Given the description of an element on the screen output the (x, y) to click on. 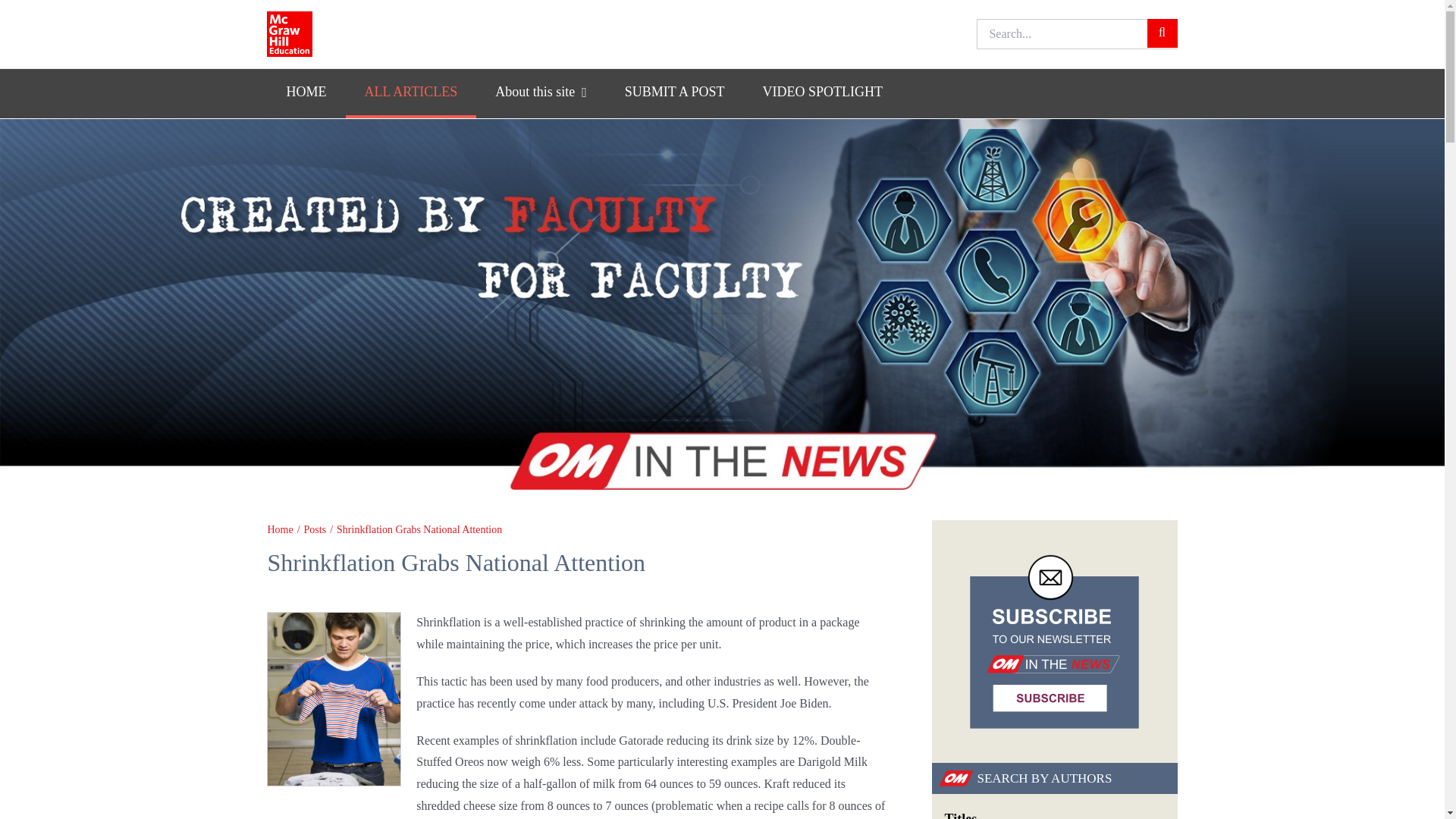
Posts (315, 529)
Home (279, 529)
VIDEO SPOTLIGHT (822, 92)
HOME (305, 92)
ALL ARTICLES (411, 92)
SUBMIT A POST (674, 92)
About this site (540, 92)
